Given the description of an element on the screen output the (x, y) to click on. 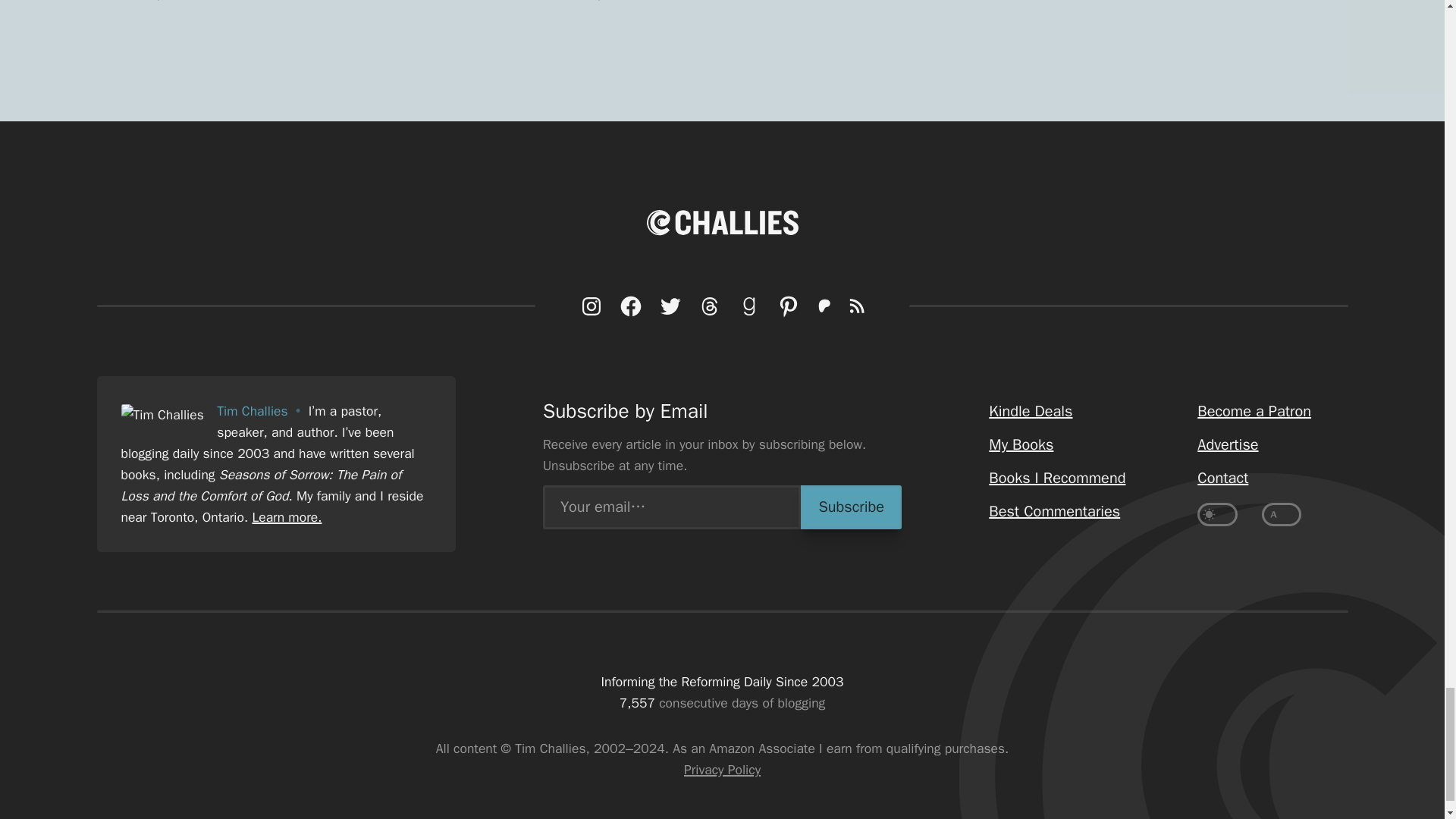
Subscribe (850, 507)
Challies logo (721, 222)
on (1216, 514)
on (1281, 514)
